Given the description of an element on the screen output the (x, y) to click on. 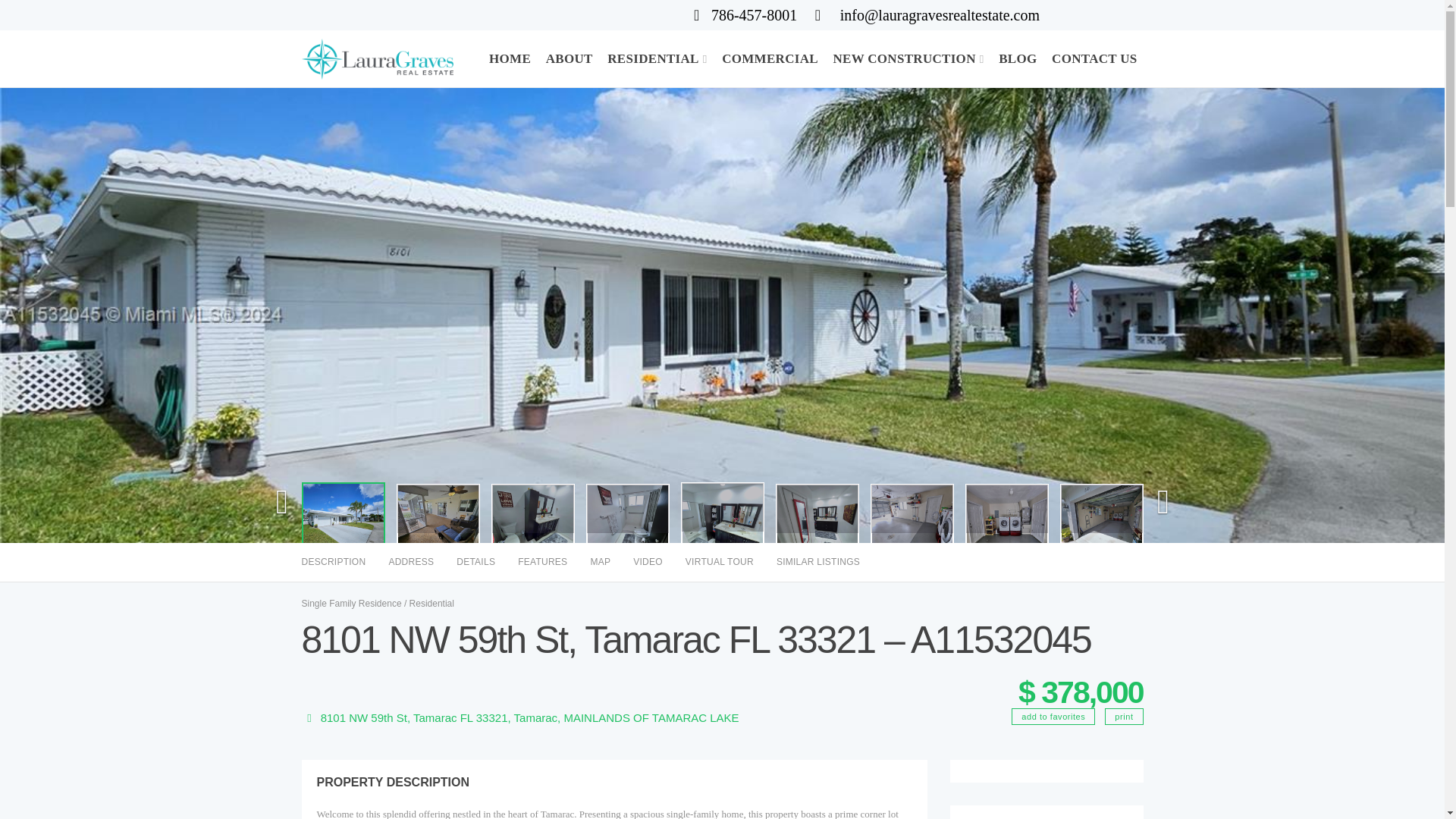
RESIDENTIAL (657, 58)
786-457-8001 (745, 15)
ABOUT (569, 58)
HOME (510, 58)
